Given the description of an element on the screen output the (x, y) to click on. 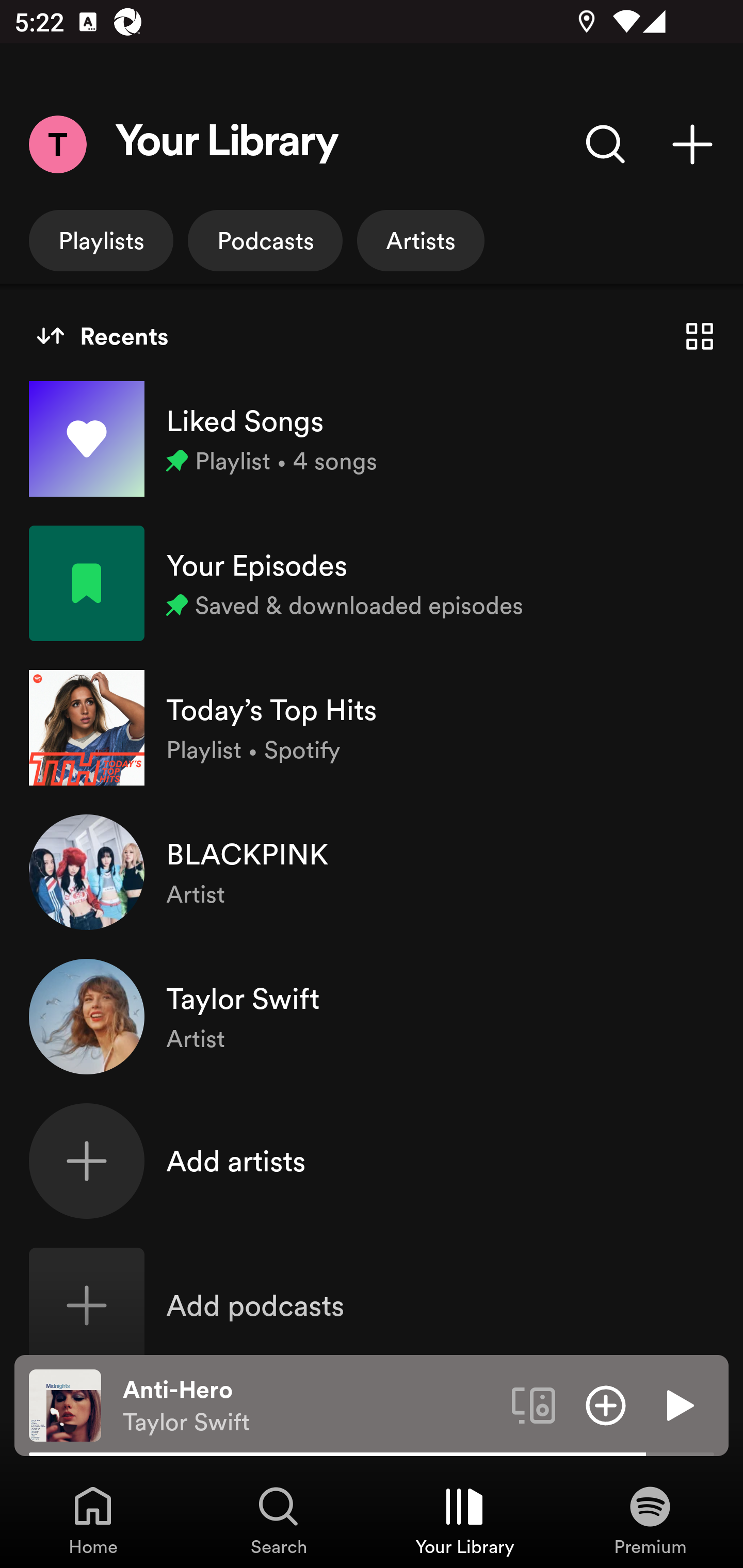
Menu (57, 144)
Search Your Library (605, 144)
Create playlist (692, 144)
Your Library Your Library Heading (226, 144)
Playlists, show only playlists. (100, 240)
Podcasts, show only podcasts. (264, 240)
Artists, show only artists. (420, 240)
Recents (101, 336)
Show Grid view (699, 336)
BLACKPINK, Artist,  BLACKPINK Artist (371, 871)
Taylor Swift, Artist,  Taylor Swift Artist (371, 1016)
Add artists,  Add artists (371, 1160)
Add podcasts,  Add podcasts (371, 1305)
Anti-Hero Taylor Swift (309, 1405)
The cover art of the currently playing track (64, 1404)
Connect to a device. Opens the devices menu (533, 1404)
Add item (605, 1404)
Play (677, 1404)
Home, Tab 1 of 4 Home Home (92, 1519)
Search, Tab 2 of 4 Search Search (278, 1519)
Your Library, Tab 3 of 4 Your Library Your Library (464, 1519)
Premium, Tab 4 of 4 Premium Premium (650, 1519)
